Given the description of an element on the screen output the (x, y) to click on. 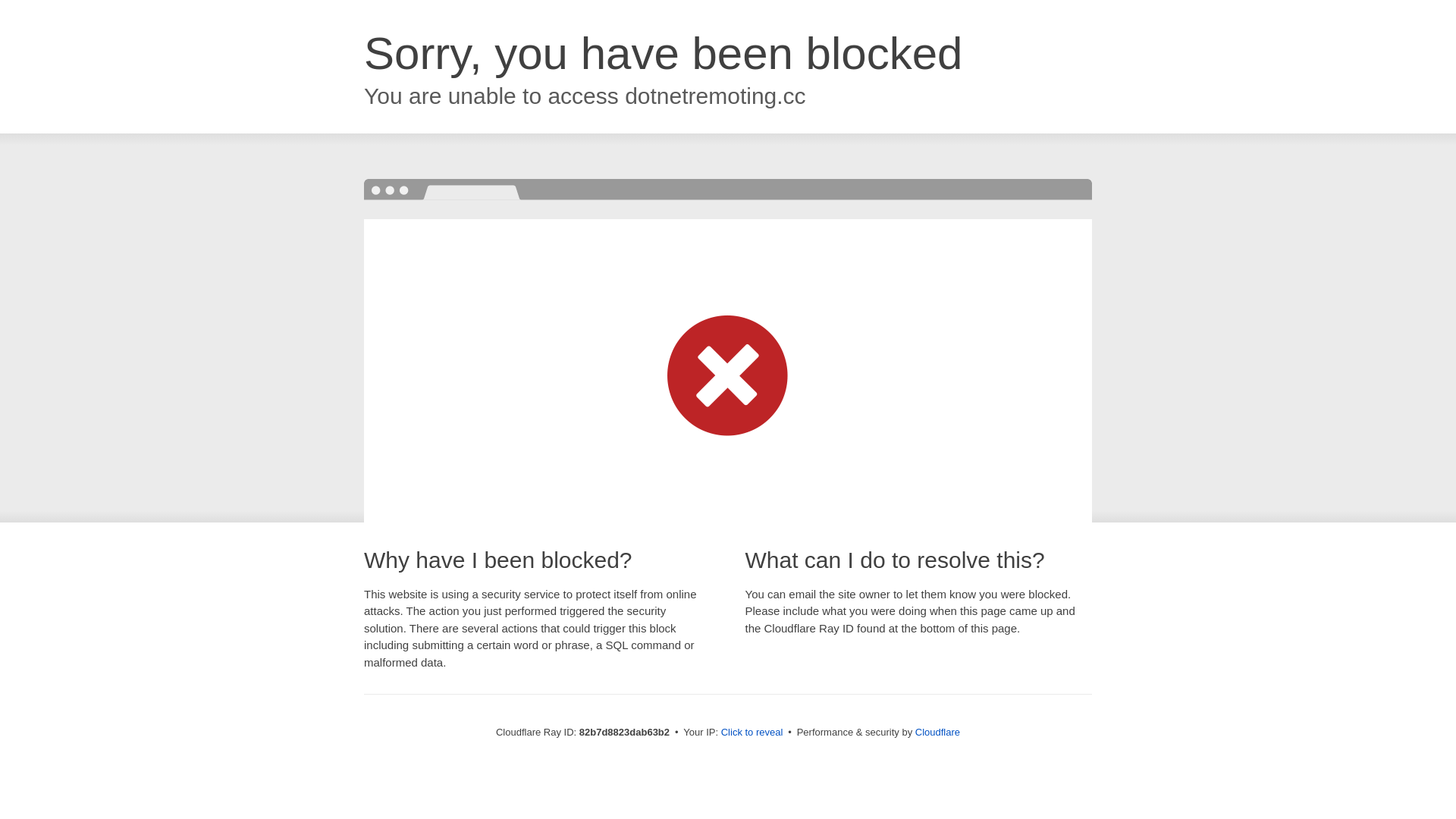
Click to reveal Element type: text (752, 732)
Cloudflare Element type: text (937, 731)
